Given the description of an element on the screen output the (x, y) to click on. 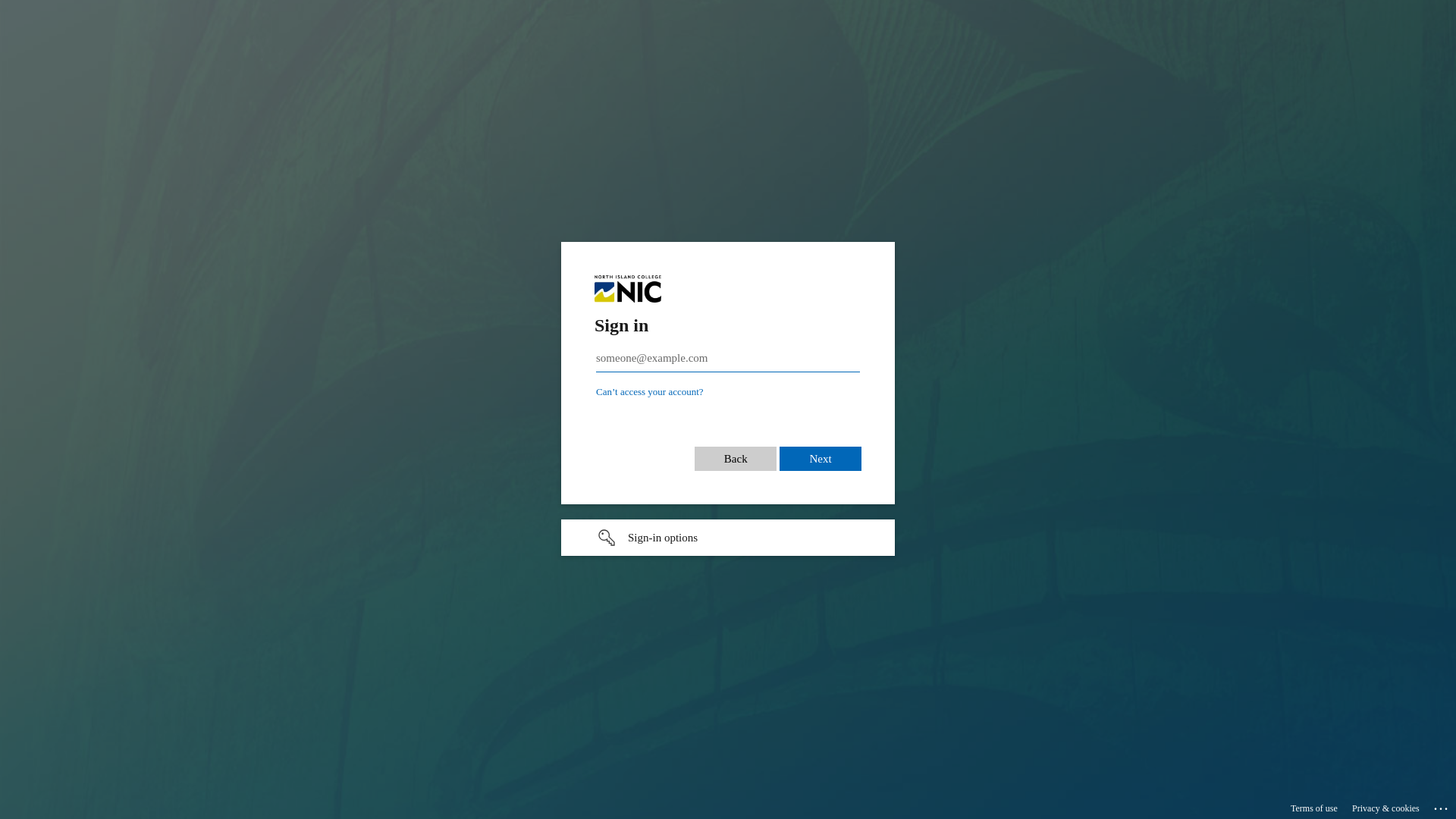
... Element type: text (1441, 805)
Next Element type: text (820, 449)
